Given the description of an element on the screen output the (x, y) to click on. 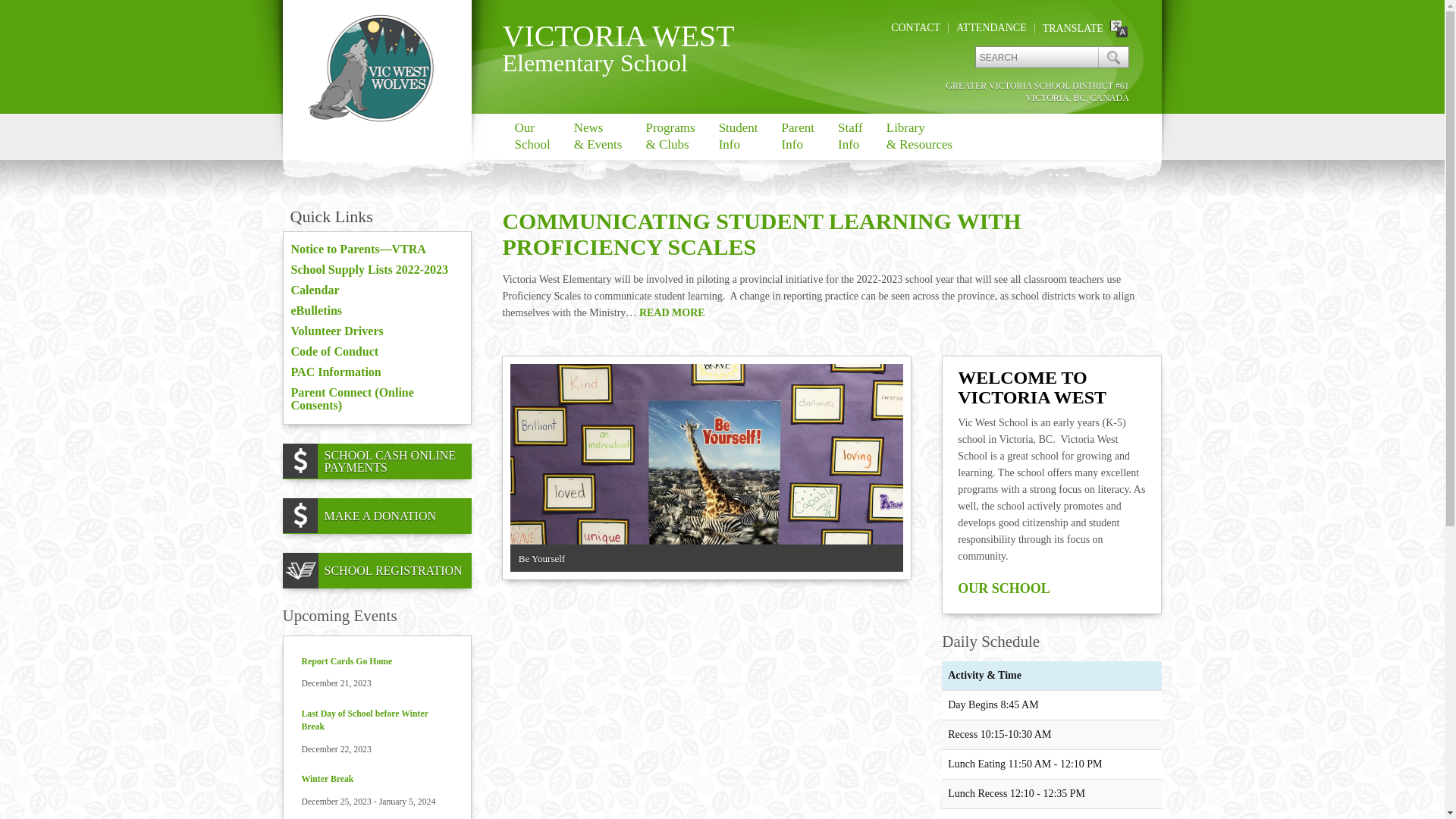
CONTACT Element type: text (915, 27)
School Supply Lists 2022-2023 Element type: text (369, 269)
Previous Element type: text (848, 558)
Parent
Info Element type: text (797, 136)
Student
Info Element type: text (737, 136)
News
& Events Element type: text (597, 136)
Library
& Resources Element type: text (918, 136)
SCHOOL REGISTRATION Element type: text (393, 570)
Last Day of School before Winter Break Element type: text (364, 720)
PAC Information Element type: text (336, 371)
  Element type: text (1112, 57)
Programs
& Clubs Element type: text (669, 136)
Report Cards Go Home Element type: text (346, 661)
Calendar Element type: text (315, 289)
Winter Break Element type: text (327, 779)
Code of Conduct Element type: text (335, 351)
Our
School Element type: text (531, 136)
eBulletins Element type: text (316, 310)
MAKE A DONATION Element type: text (380, 515)
Pause Element type: text (867, 558)
Staff
Info Element type: text (849, 136)
ATTENDANCE Element type: text (991, 27)
READ MORE Element type: text (672, 312)
Volunteer Drivers Element type: text (337, 330)
SCHOOL CASH ONLINE PAYMENTS Element type: text (398, 460)
Parent Connect (Online Consents) Element type: text (352, 398)
COMMUNICATING STUDENT LEARNING WITH PROFICIENCY SCALES Element type: text (761, 233)
Next Element type: text (885, 558)
OUR SCHOOL Element type: text (1003, 588)
